Given the description of an element on the screen output the (x, y) to click on. 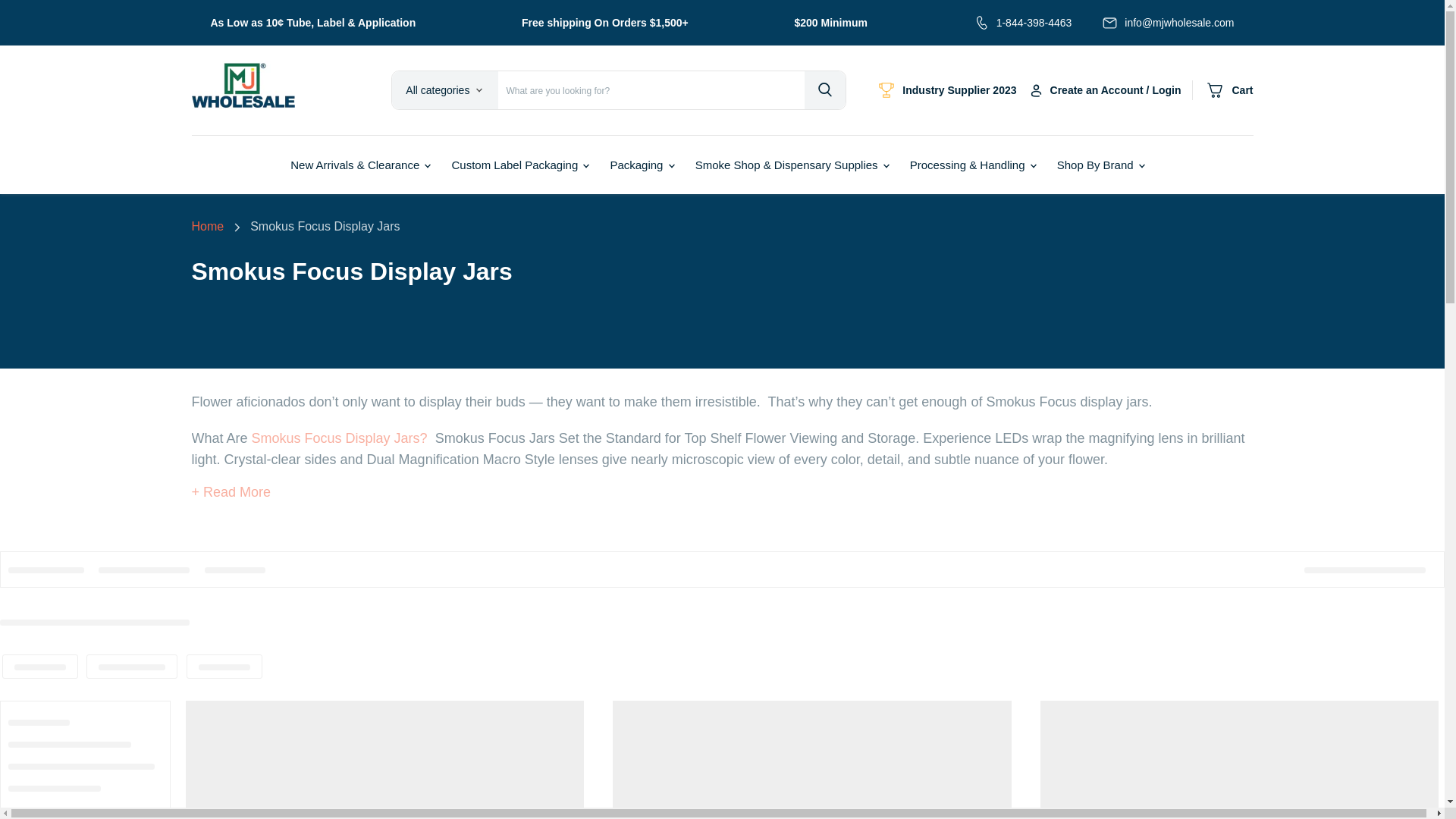
1-844-398-4463 (1033, 22)
